Given the description of an element on the screen output the (x, y) to click on. 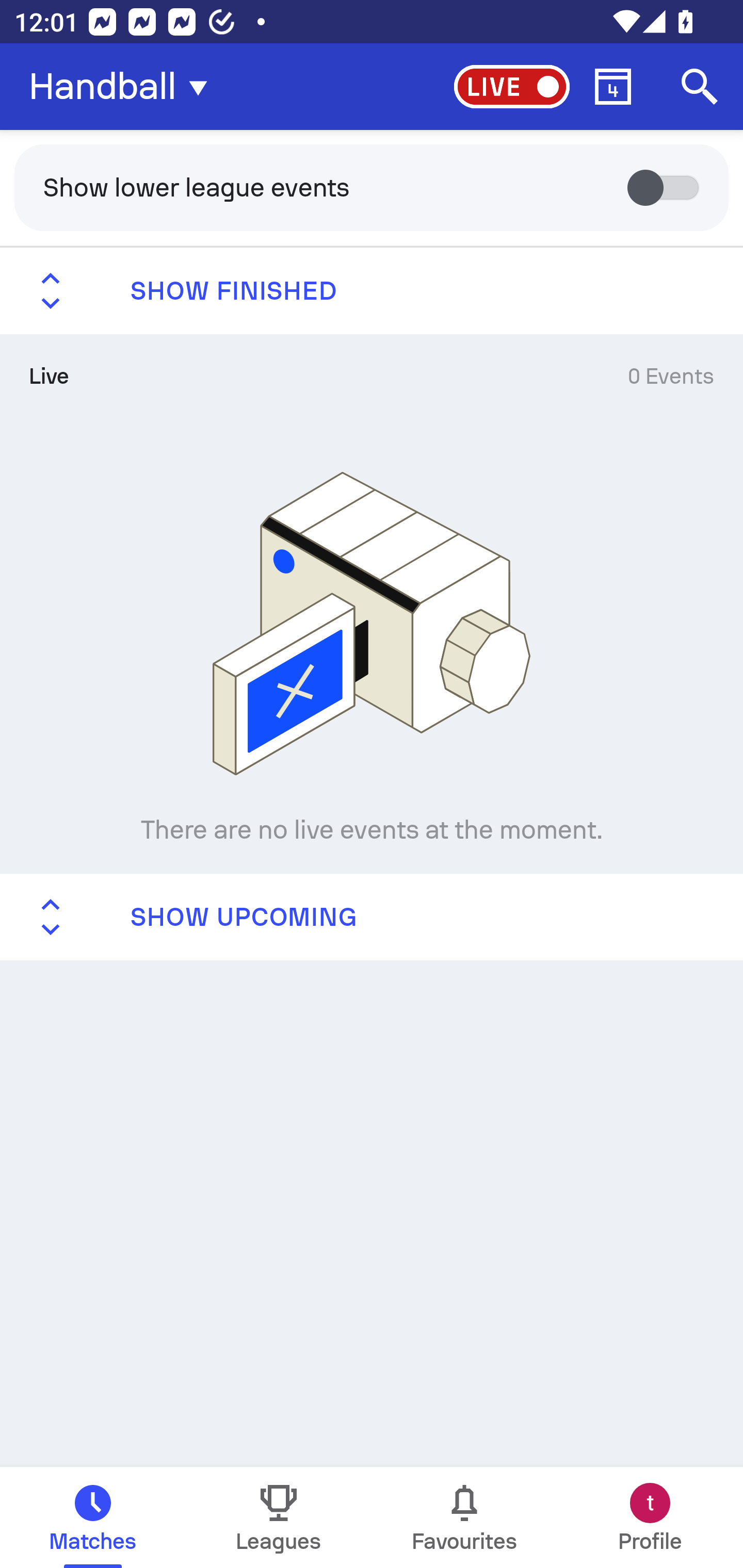
Handball (124, 86)
Calendar (612, 86)
Search (699, 86)
Show lower league events (371, 187)
SHOW FINISHED (371, 290)
SHOW UPCOMING (371, 916)
Leagues (278, 1517)
Favourites (464, 1517)
Profile (650, 1517)
